Given the description of an element on the screen output the (x, y) to click on. 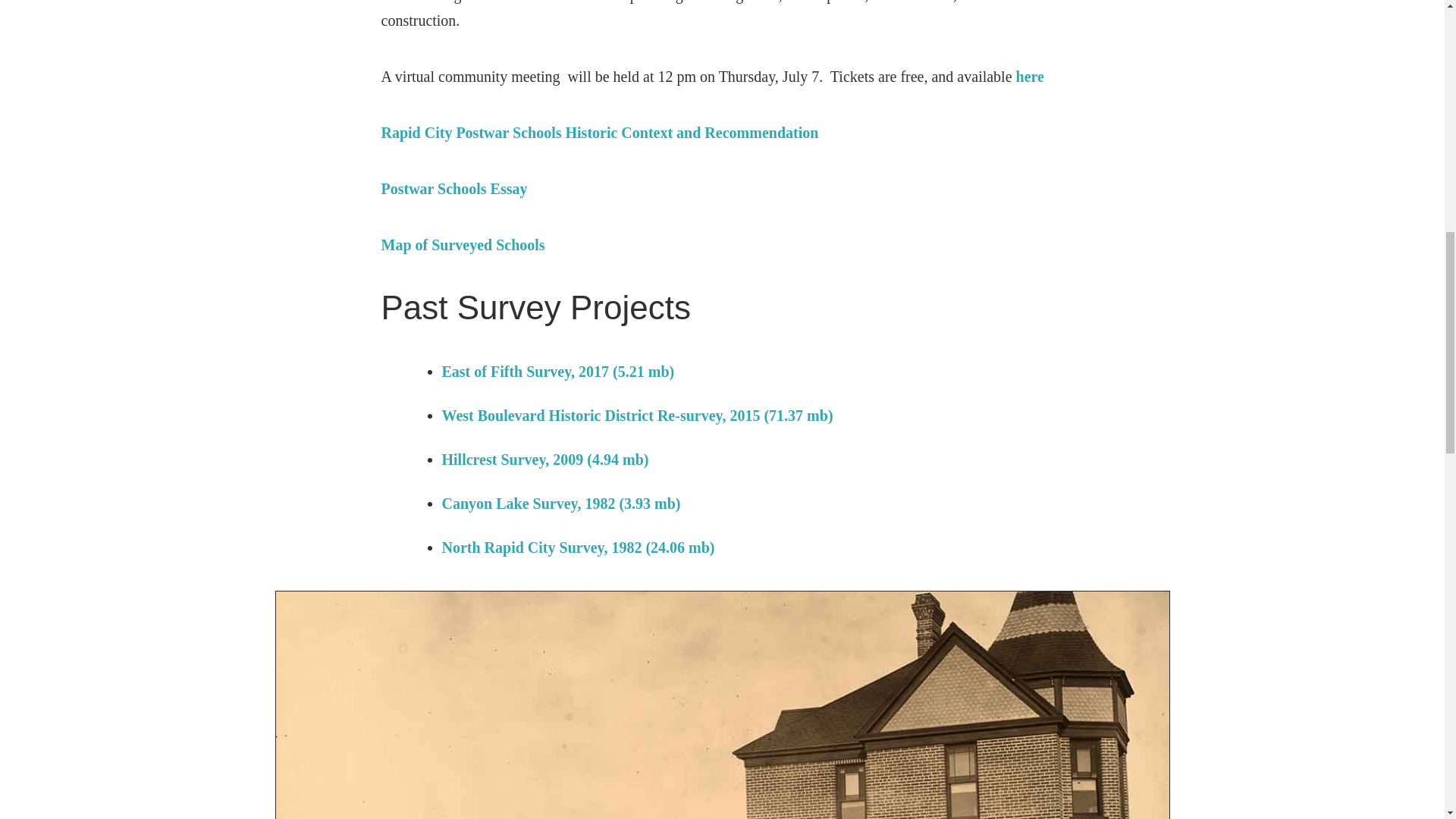
here (1029, 76)
Map of Surveyed Schools (462, 244)
Postwar Schools Essay (453, 188)
